Given the description of an element on the screen output the (x, y) to click on. 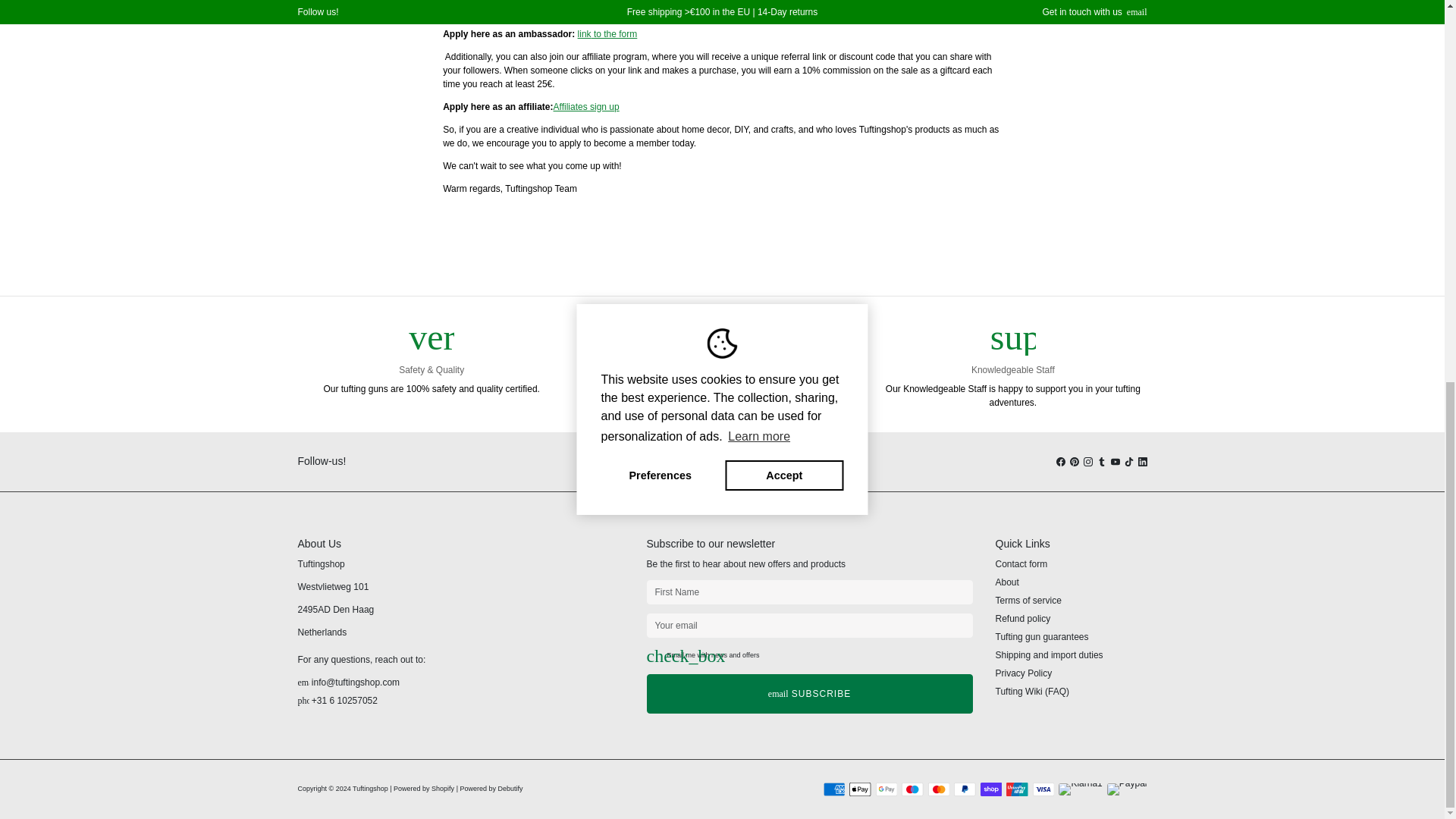
Visa (1043, 789)
Apple Pay (859, 789)
American Express (834, 789)
Shop Pay (990, 789)
Google Pay (886, 789)
Mastercard (938, 789)
Union Pay (1016, 789)
PayPal (964, 789)
Maestro (912, 789)
